Given the description of an element on the screen output the (x, y) to click on. 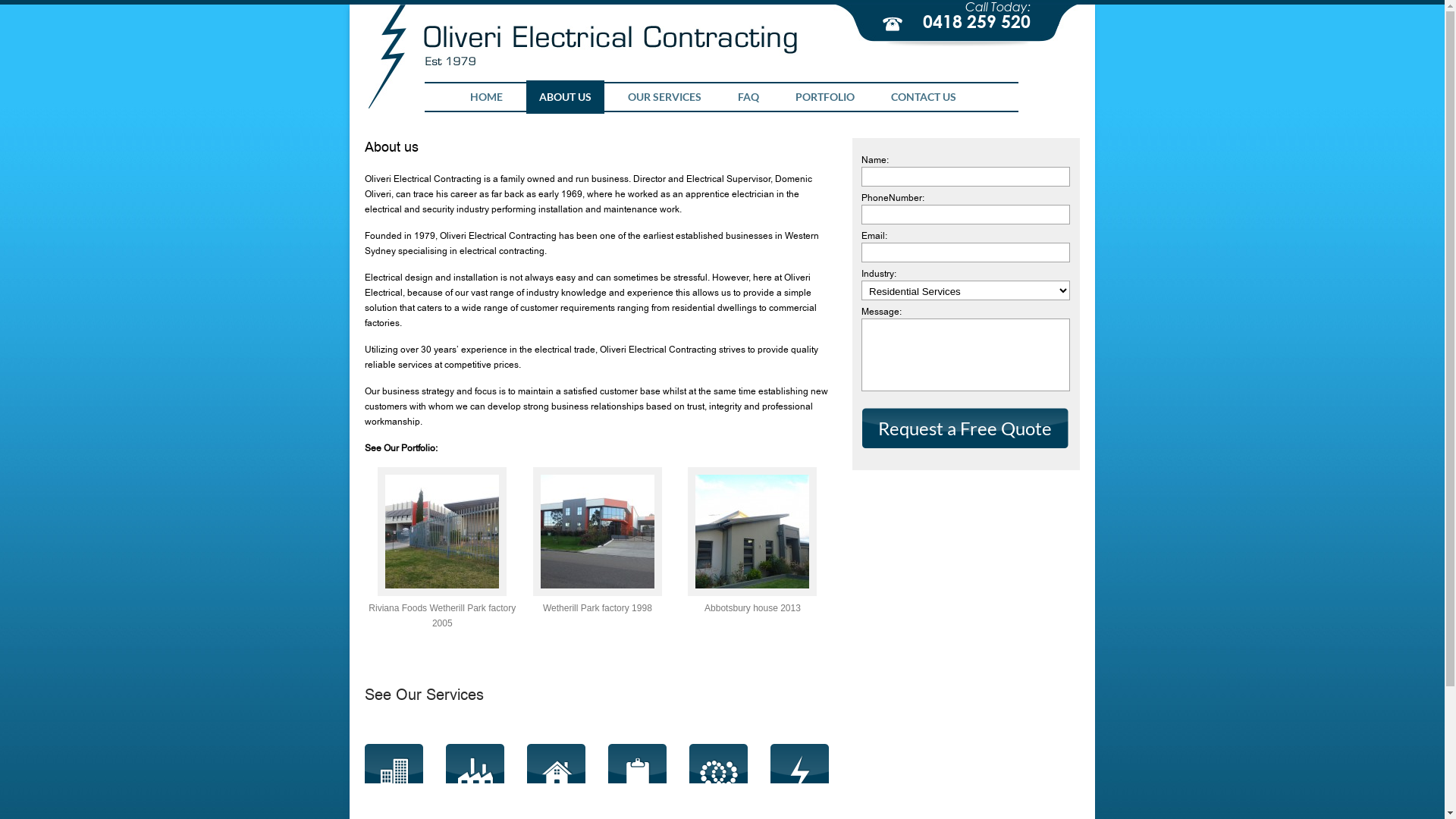
Request a Free Quote Element type: text (964, 427)
FAQ Element type: text (748, 96)
HOME Element type: text (486, 96)
PORTFOLIO Element type: text (824, 96)
OUR SERVICES Element type: text (664, 96)
CONTACT US Element type: text (923, 96)
ABOUT US Element type: text (565, 96)
